Given the description of an element on the screen output the (x, y) to click on. 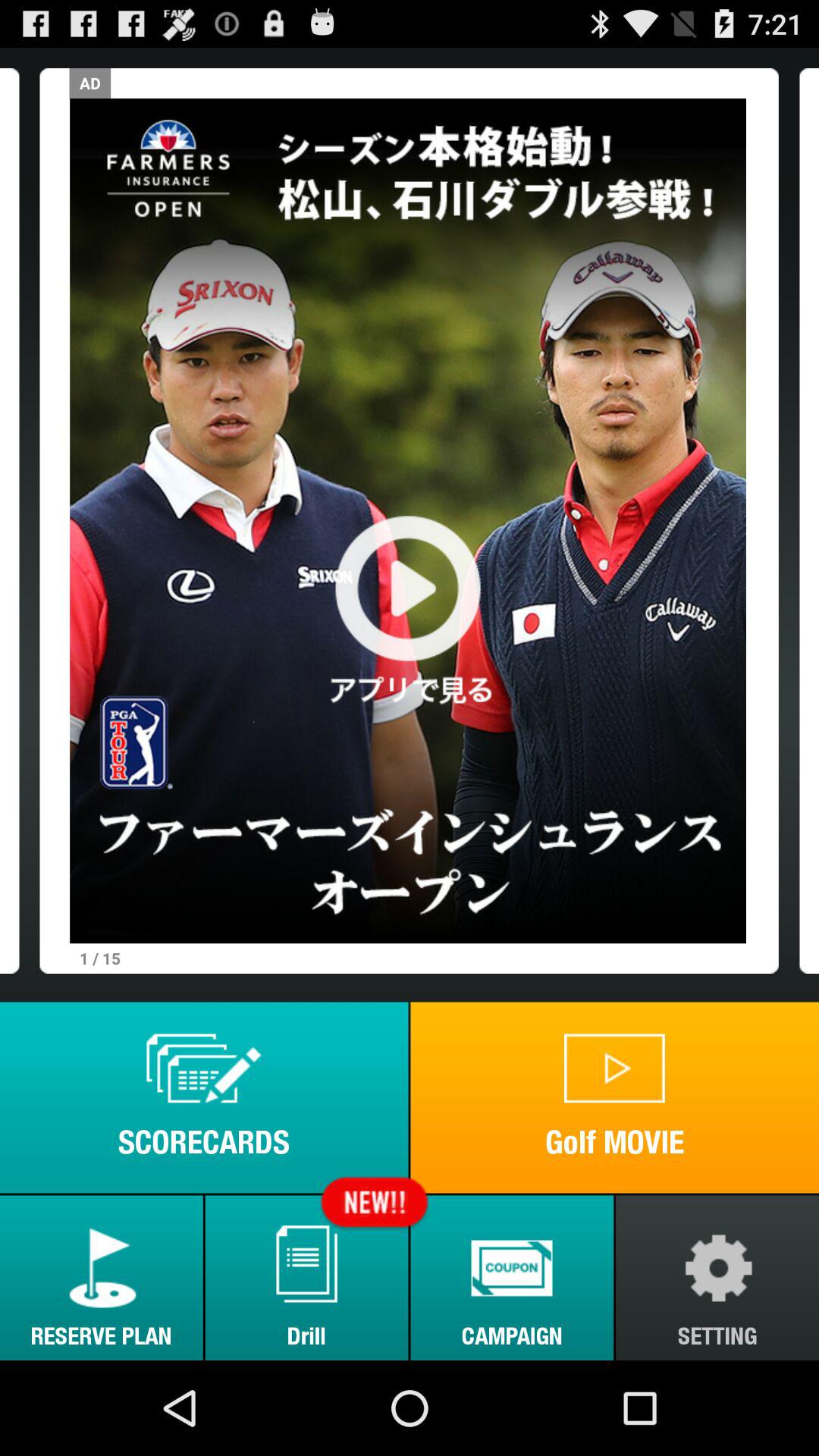
select campaign button (511, 1277)
